Given the description of an element on the screen output the (x, y) to click on. 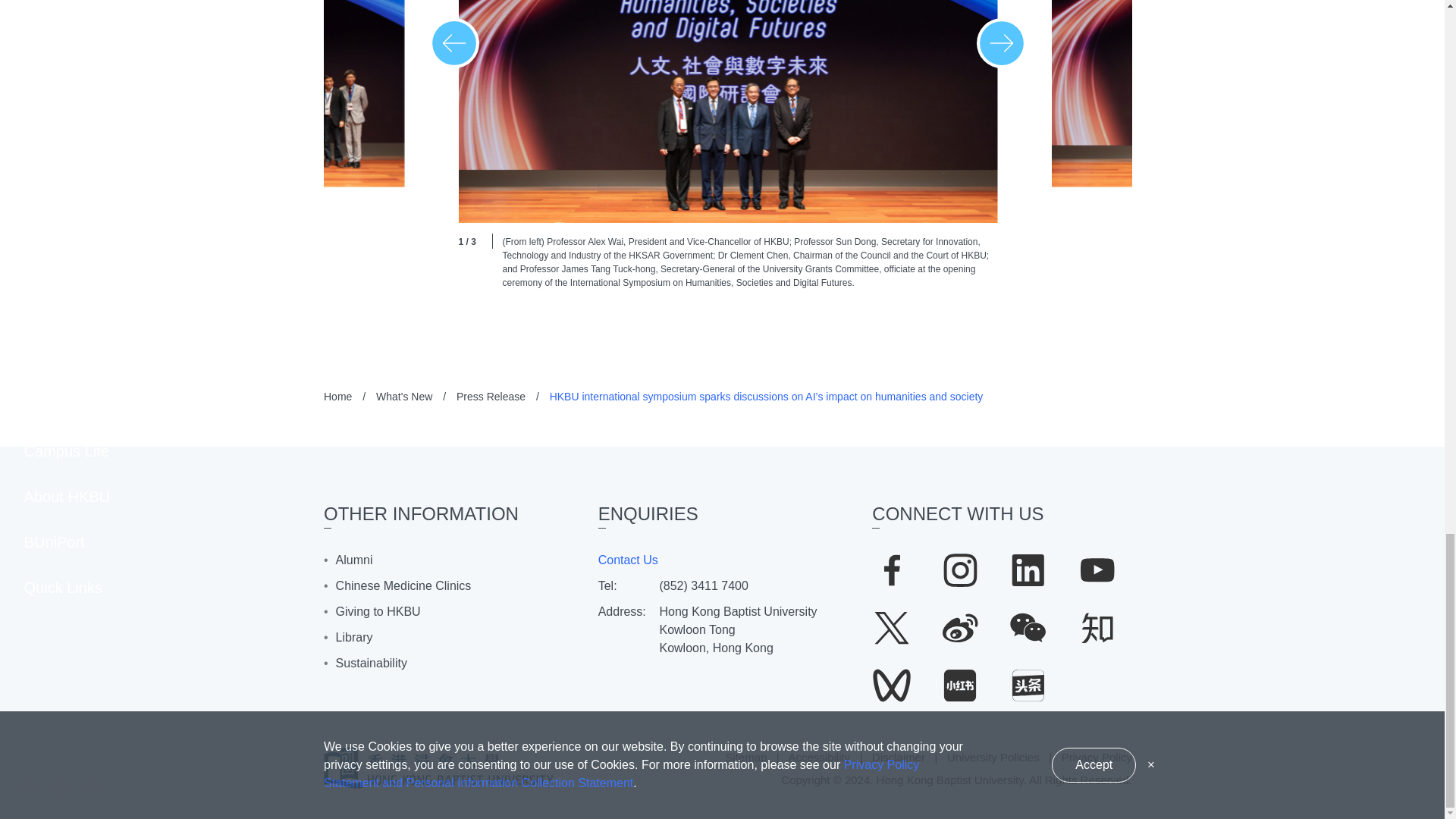
Toutiao (1027, 685)
Linkedin (1027, 569)
Instagram (960, 569)
Weixin Channel (890, 685)
Youtube (1097, 569)
Facebook (890, 569)
Twitter (890, 627)
Weibo (960, 627)
Zhihu (1097, 627)
Xiaohongshu (960, 685)
WeChat (1027, 627)
